Given the description of an element on the screen output the (x, y) to click on. 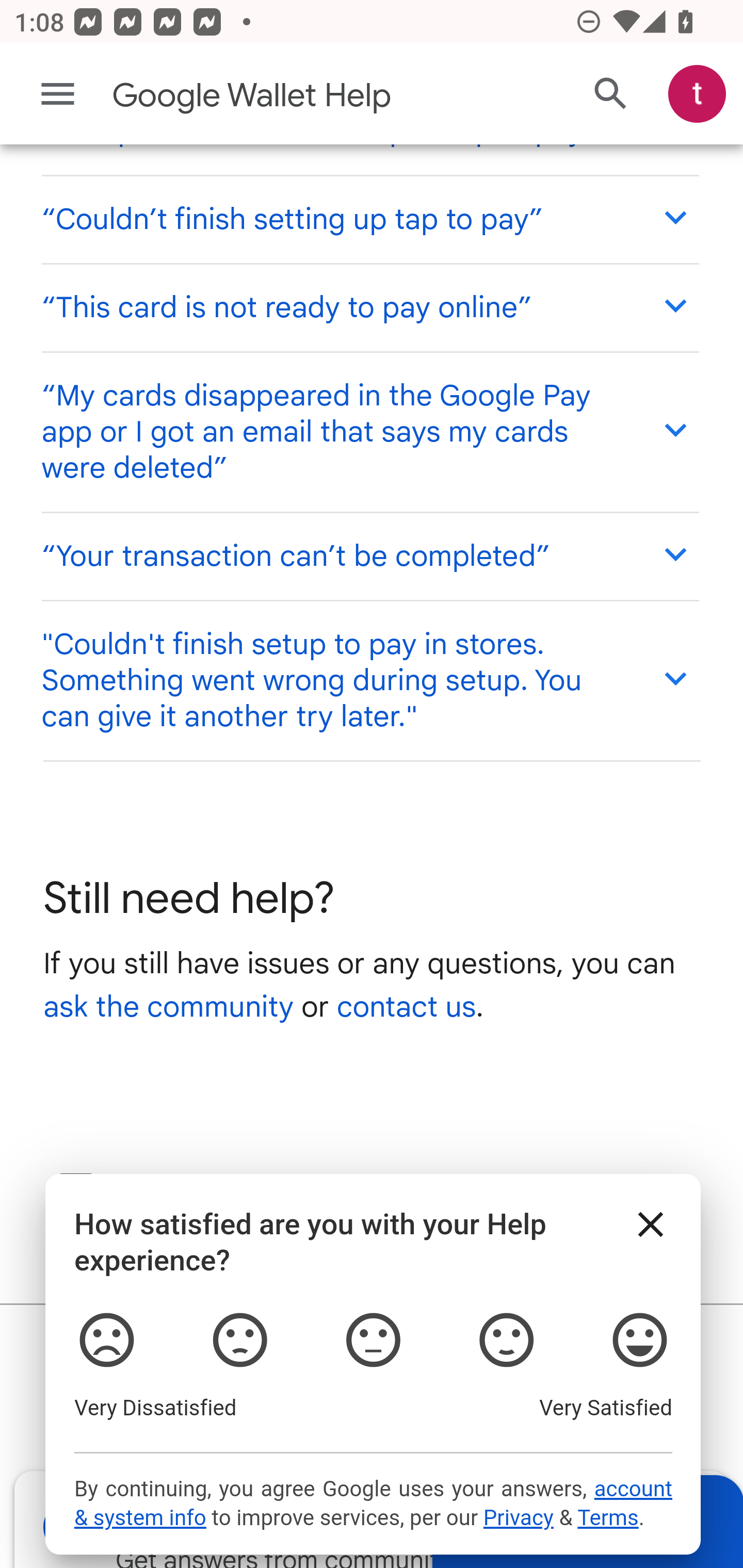
Main menu (58, 94)
Google Wallet Help (292, 96)
Search Help Center (611, 94)
“Couldn’t finish setting up tap to pay” (369, 219)
“This card is not ready to pay online” (369, 308)
“Your transaction can’t be completed” (369, 557)
ask the community (168, 1008)
contact us (406, 1008)
Close user survey dialog (650, 1226)
Smiley 1 of 5. Very dissatisfied Very Dissatisfied (106, 1342)
Smiley 2 of 5. Somewhat dissatisfied (238, 1342)
Smiley 3 of 5. Neither satisfied nor dissatisfied (372, 1342)
Smiley 4 of 5. Somewhat satisfied (506, 1342)
Smiley 5 of 5. Very satisfied Very Satisfied (639, 1342)
account & system info (372, 1506)
Privacy, Opens in new tab Privacy (518, 1520)
Terms, Opens in new tab Terms (606, 1520)
